Given the description of an element on the screen output the (x, y) to click on. 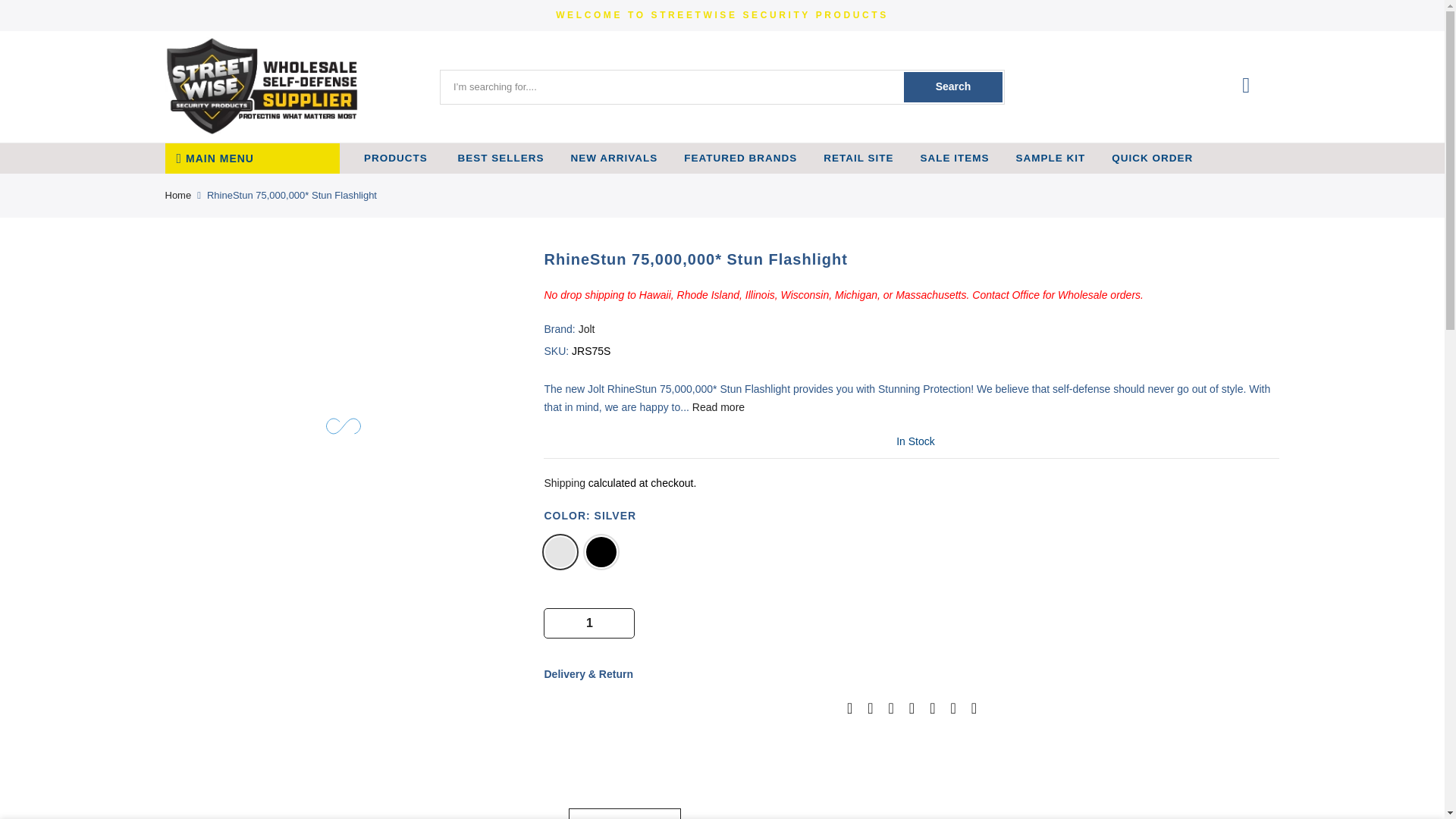
Shipping (564, 482)
Jolt (586, 328)
RETAIL SITE (858, 158)
DESCRIPTION (625, 813)
Jolt (586, 328)
1 (589, 623)
 BEST SELLERS (499, 158)
SALE ITEMS (955, 158)
PRODUCTS (395, 158)
NEW ARRIVALS (614, 158)
